Given the description of an element on the screen output the (x, y) to click on. 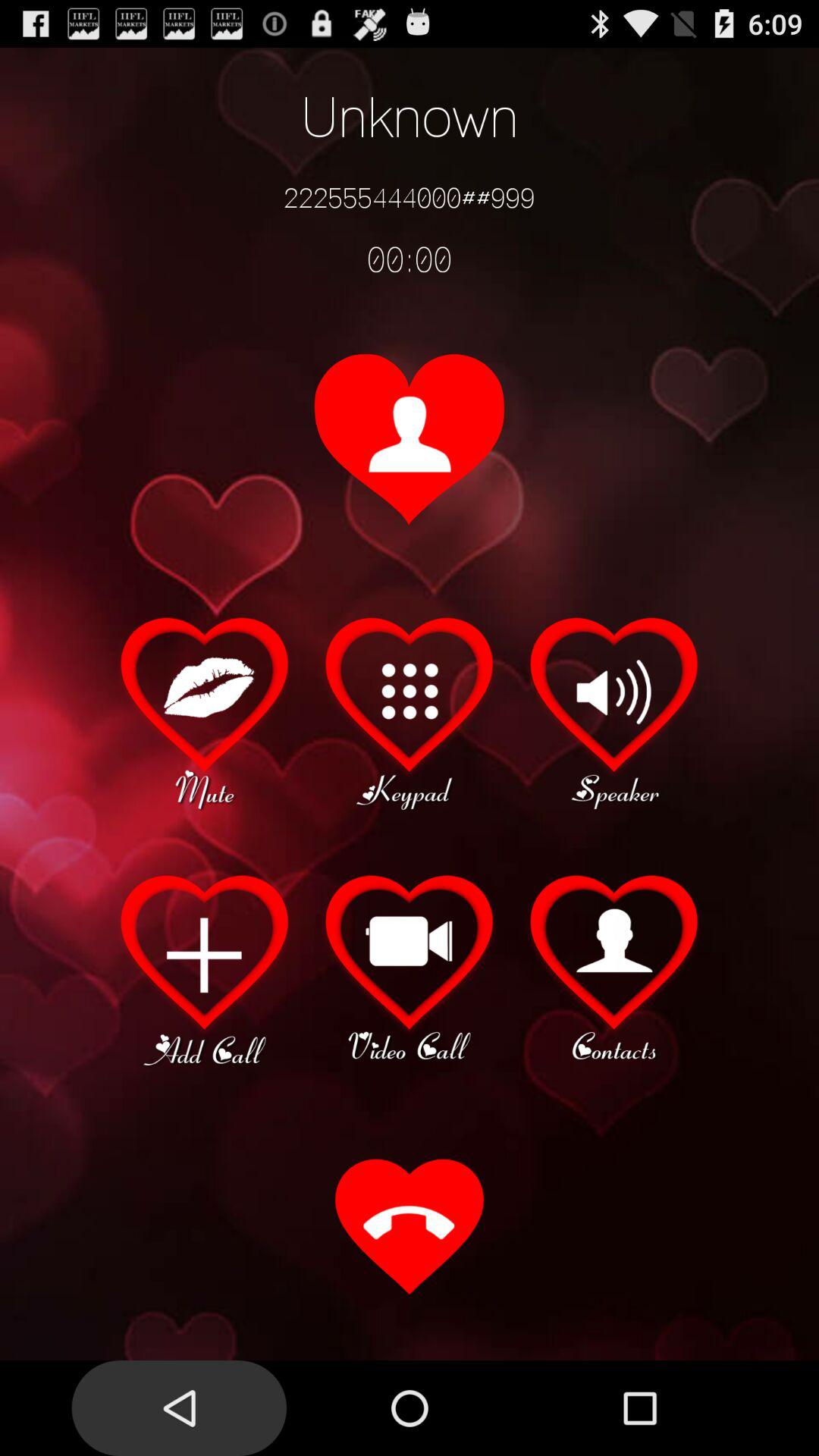
call disconnect (409, 1228)
